Given the description of an element on the screen output the (x, y) to click on. 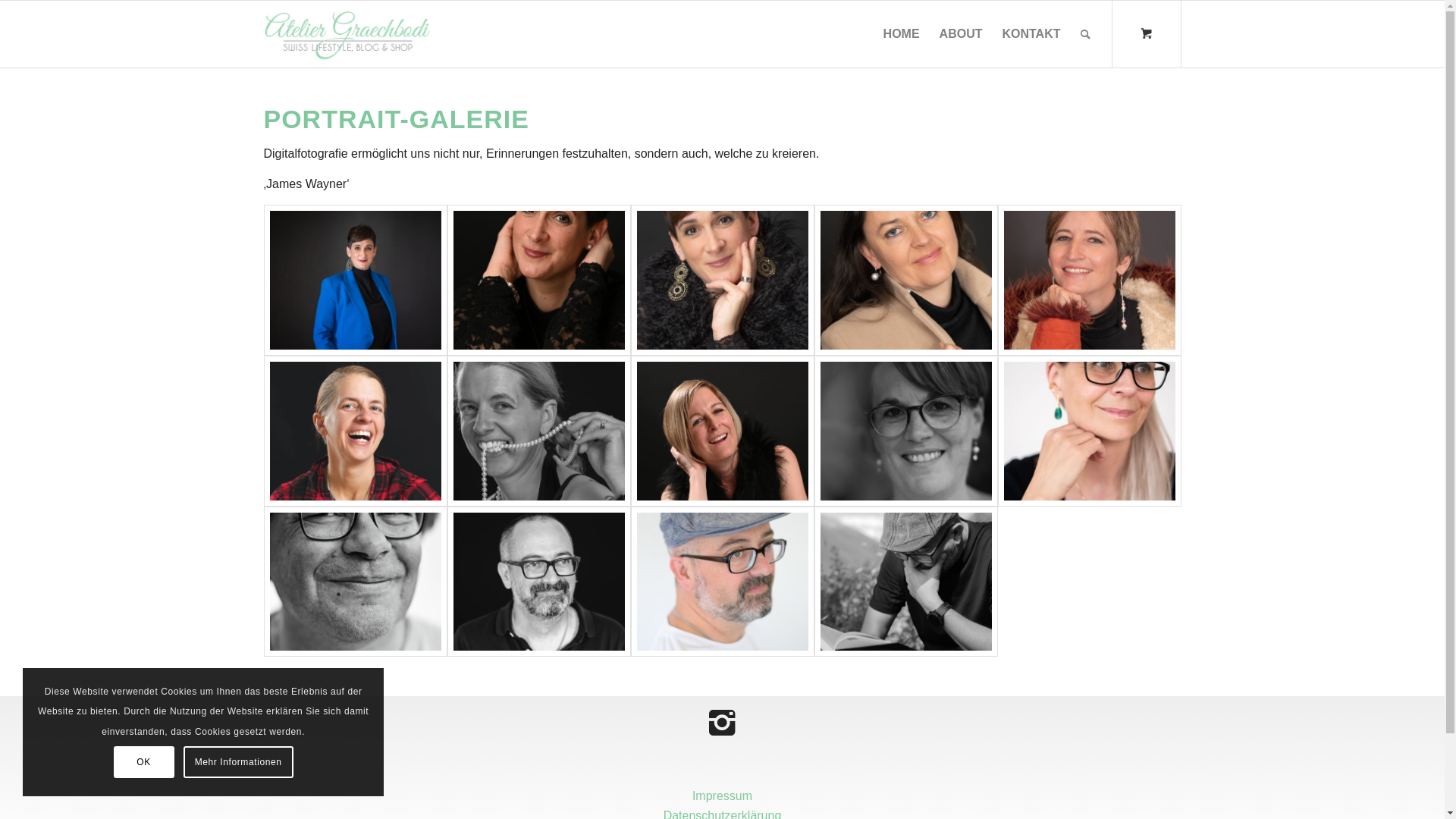
HOME Element type: text (901, 33)
Iwan2020 Element type: hover (905, 581)
EST_6939 Element type: hover (905, 279)
EST_9780 Element type: hover (1089, 430)
ABOUT Element type: text (960, 33)
EST_5759 Element type: hover (355, 581)
Impressum Element type: text (722, 795)
Ursula Element type: hover (722, 430)
EST_5736 Element type: hover (905, 430)
EST_6787 Element type: hover (538, 279)
KONTAKT Element type: text (1030, 33)
EST_5532 Element type: hover (538, 581)
EST_6497 Element type: hover (355, 430)
OK Element type: text (143, 762)
Iwan2020-3 Element type: hover (722, 581)
Mehr Informationen Element type: text (238, 762)
EST_6783 Element type: hover (722, 279)
9. juni 23 andrea amherd-028 Element type: hover (355, 279)
logo graechbodi Element type: hover (346, 33)
Anik Element type: hover (538, 430)
EST_6891 (2) Element type: hover (1089, 279)
